Given the description of an element on the screen output the (x, y) to click on. 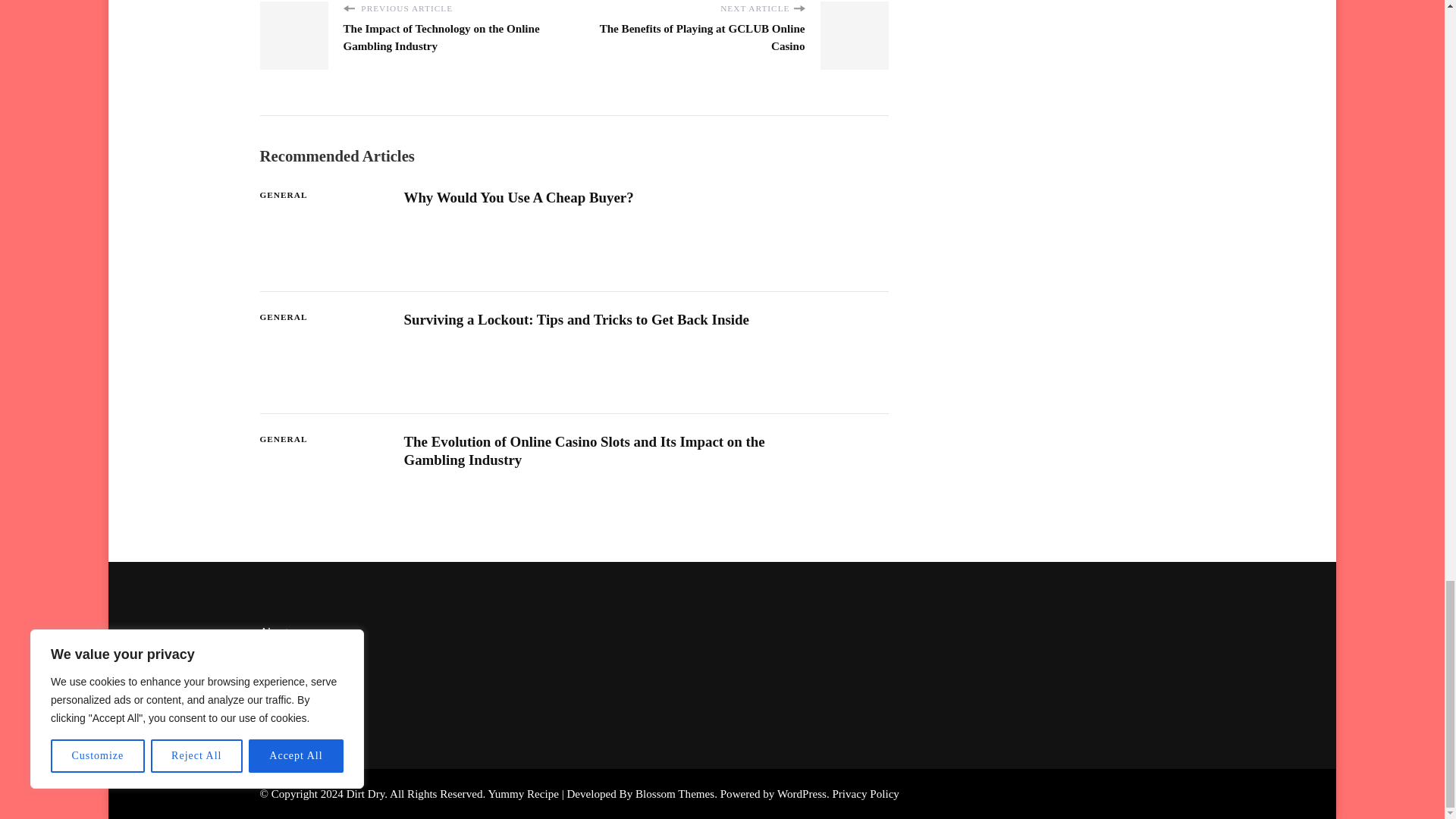
GENERAL (283, 195)
